Given the description of an element on the screen output the (x, y) to click on. 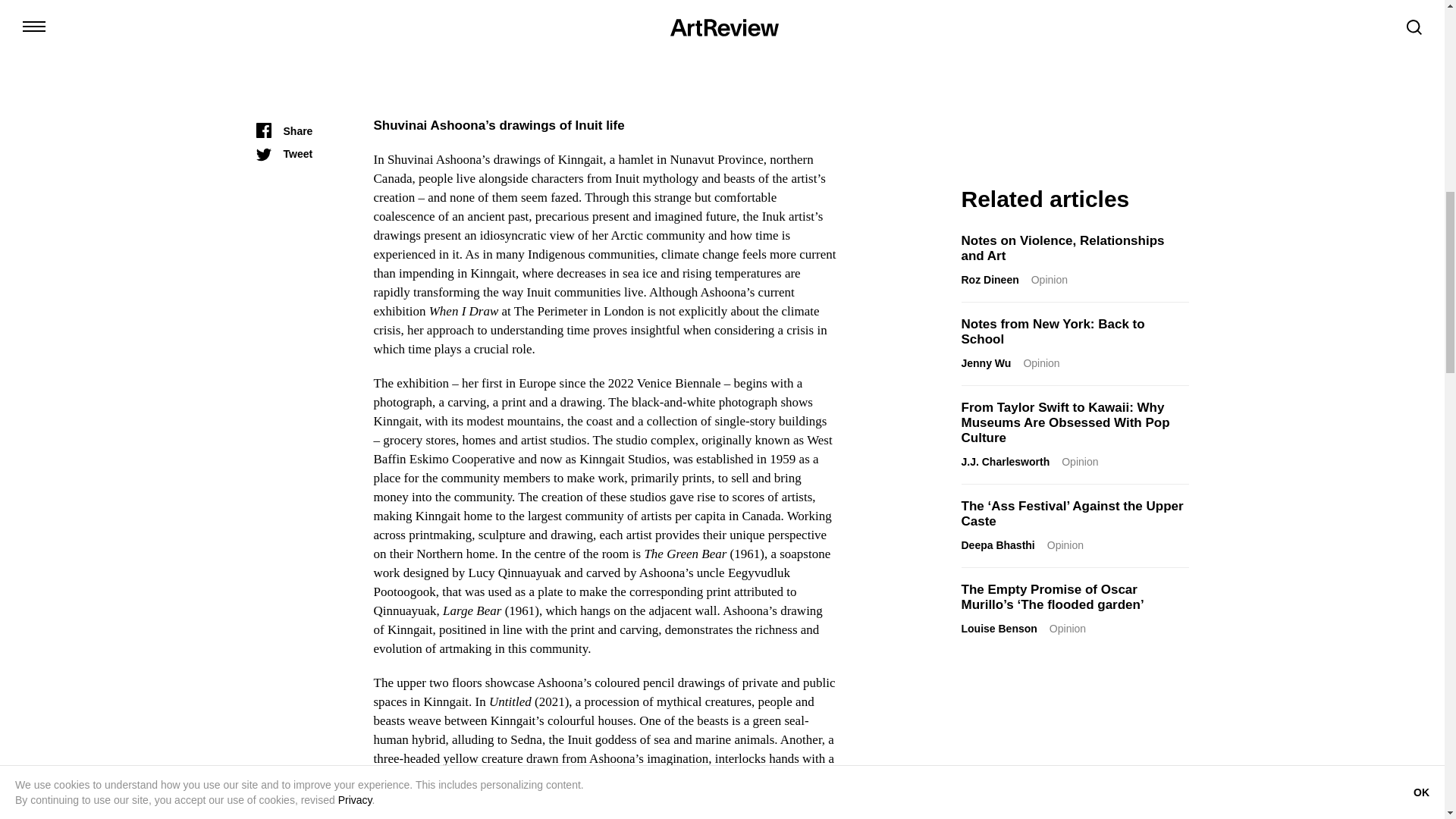
Tweet (284, 153)
Share (284, 130)
Opinion (1048, 279)
Notes on Violence, Relationships and Art (1062, 247)
Roz Dineen (989, 279)
Notes from New York: Back to School (1052, 331)
